Given the description of an element on the screen output the (x, y) to click on. 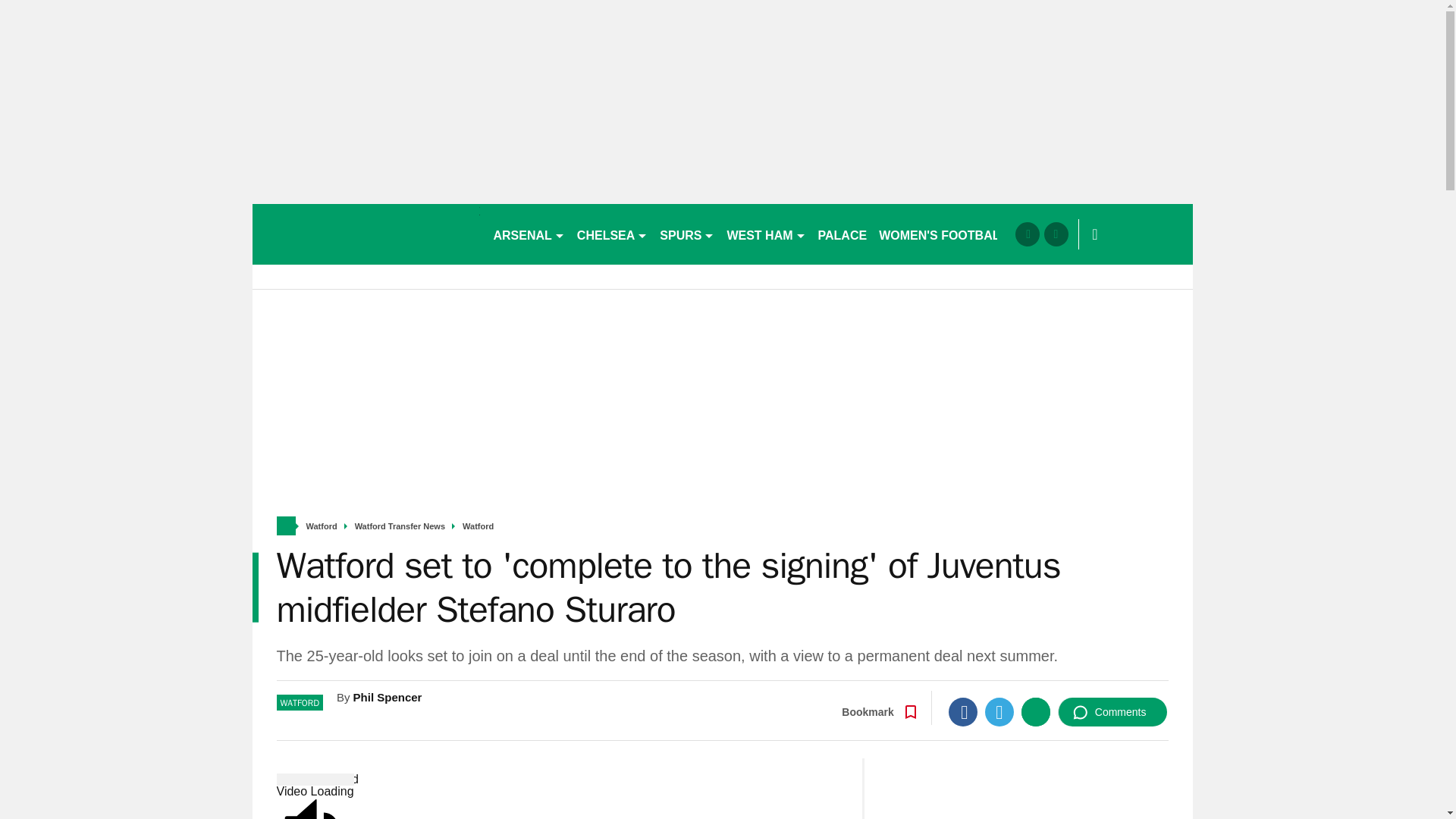
PALACE (842, 233)
WEST HAM (765, 233)
Facebook (962, 711)
SPURS (686, 233)
footballlondon (365, 233)
CHELSEA (611, 233)
ARSENAL (528, 233)
twitter (1055, 233)
WOMEN'S FOOTBALL (942, 233)
Twitter (999, 711)
